Given the description of an element on the screen output the (x, y) to click on. 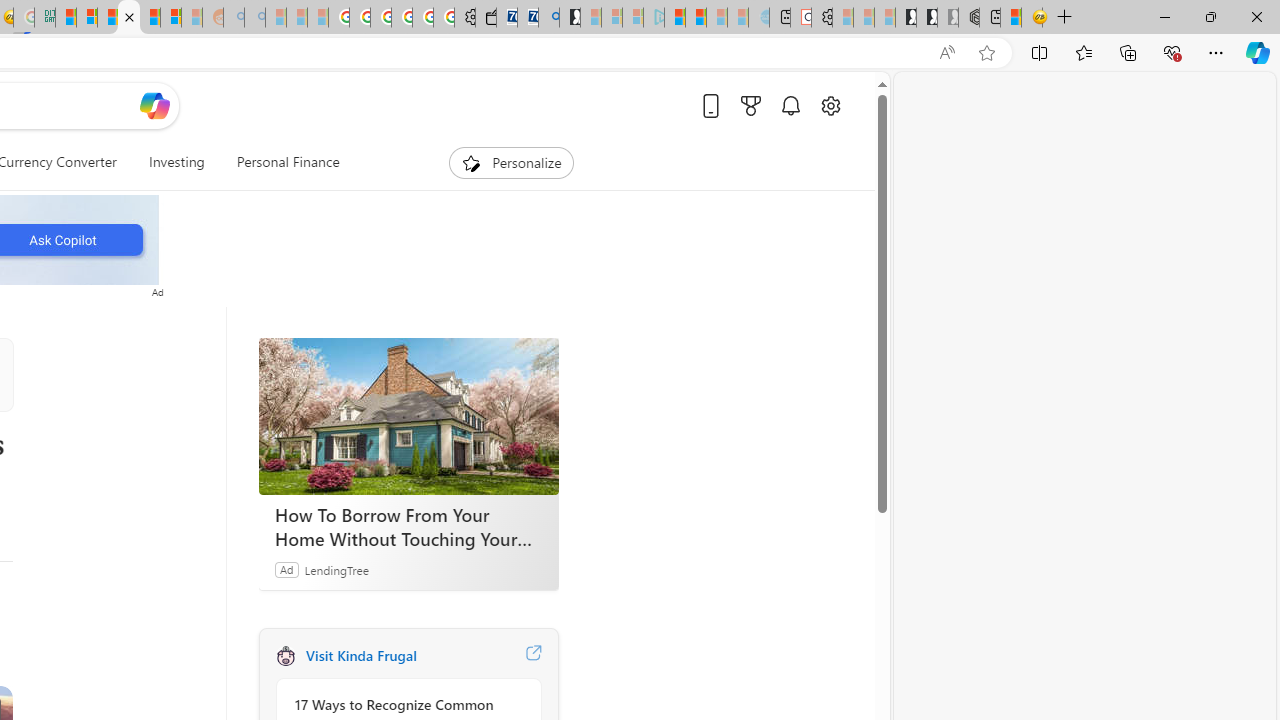
Personal Finance (287, 162)
Visit Kinda Frugal website (532, 655)
Personal Finance (280, 162)
Kinda Frugal (285, 655)
